Given the description of an element on the screen output the (x, y) to click on. 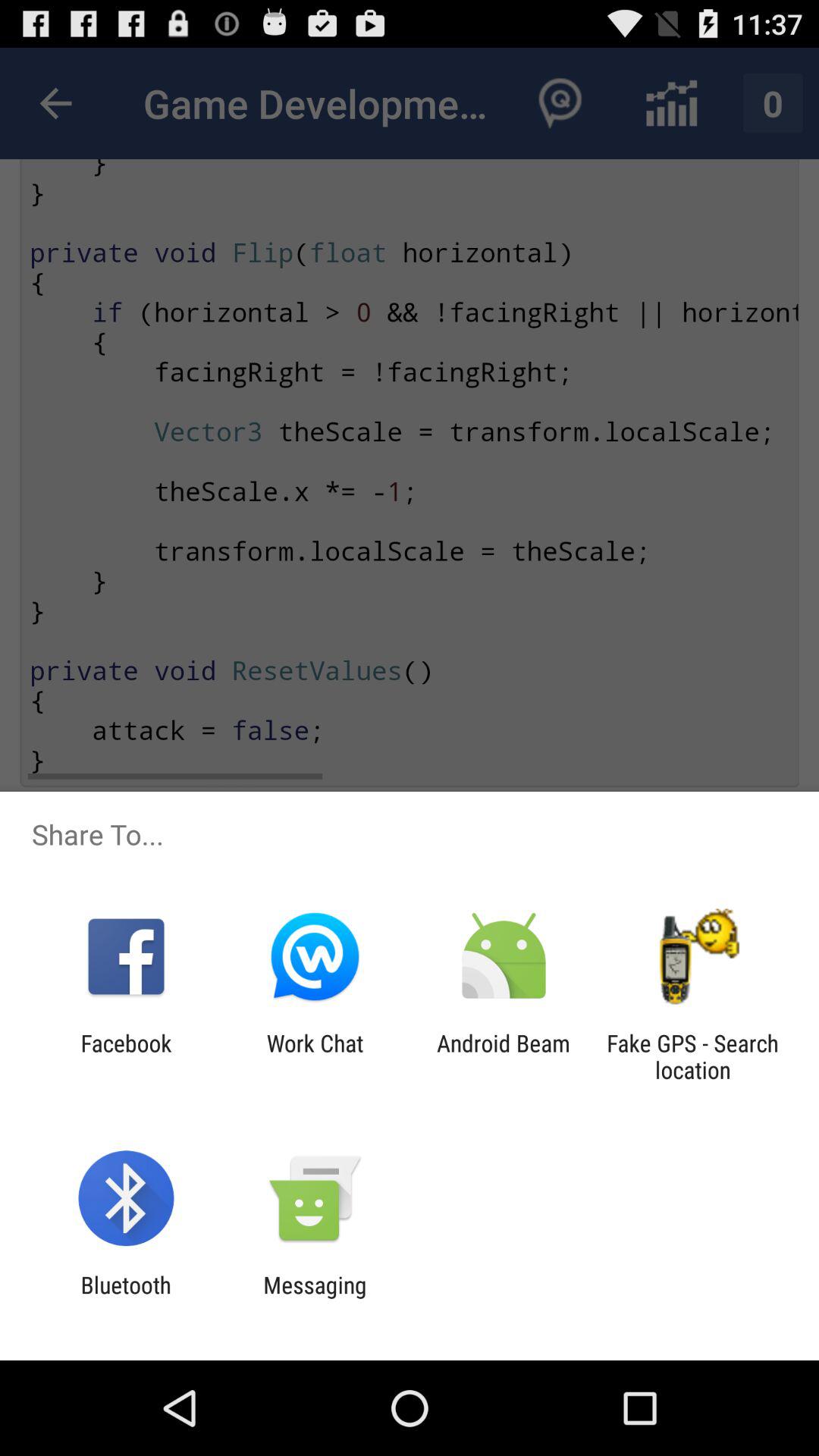
press the icon to the left of the fake gps search (503, 1056)
